Given the description of an element on the screen output the (x, y) to click on. 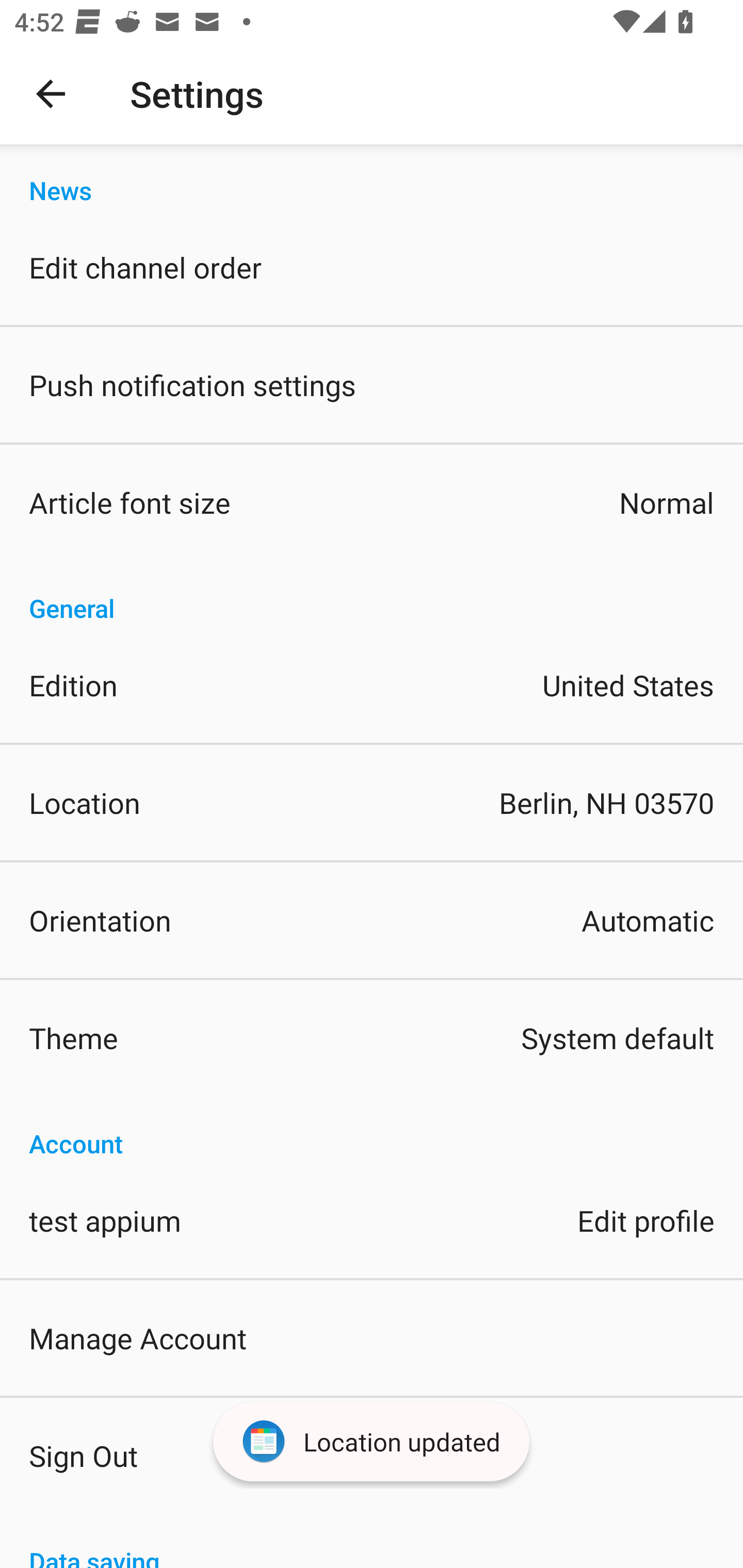
Navigate up (50, 93)
Edit channel order (371, 267)
Push notification settings (371, 384)
Article font size Normal (371, 502)
Edition United States (371, 685)
Location Berlin, NH 03570 (371, 802)
Orientation Automatic (371, 920)
Theme System default (371, 1038)
test appium Edit profile (371, 1219)
Manage Account (371, 1337)
Sign Out (371, 1455)
